Given the description of an element on the screen output the (x, y) to click on. 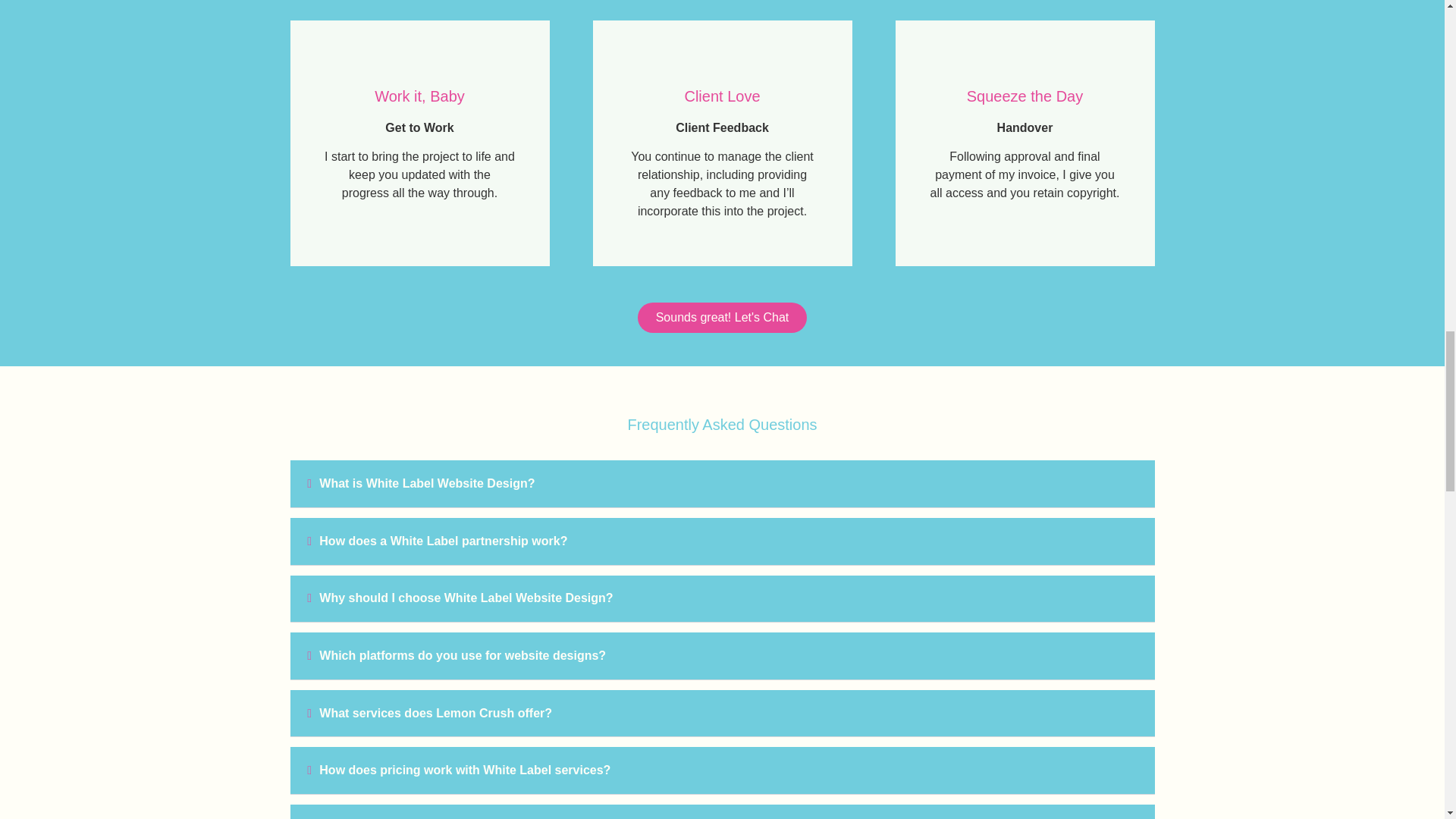
What is White Label Website Design? (426, 482)
Sounds great! Let's Chat (722, 317)
